Given the description of an element on the screen output the (x, y) to click on. 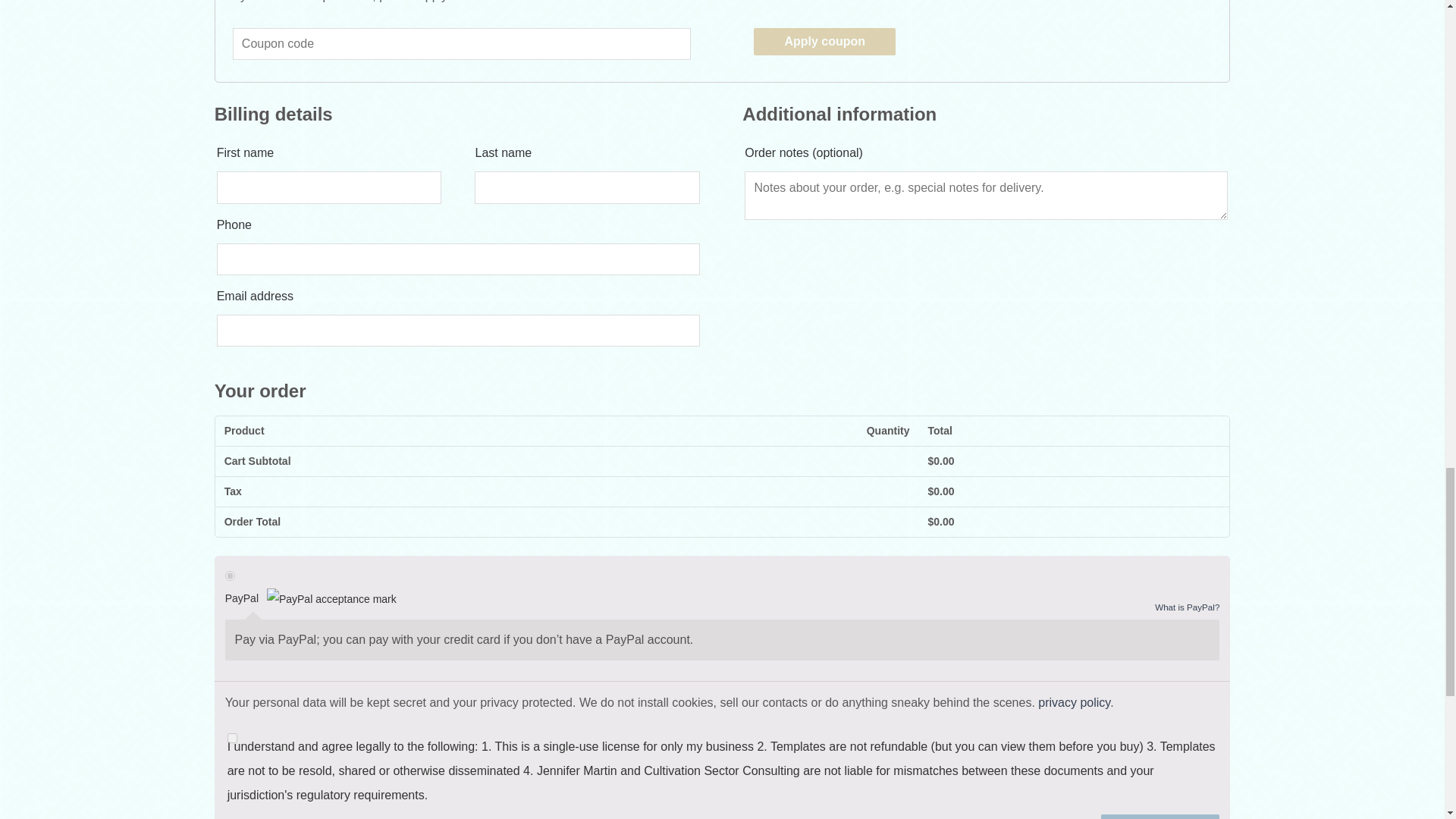
paypal (229, 575)
on (232, 737)
